Given the description of an element on the screen output the (x, y) to click on. 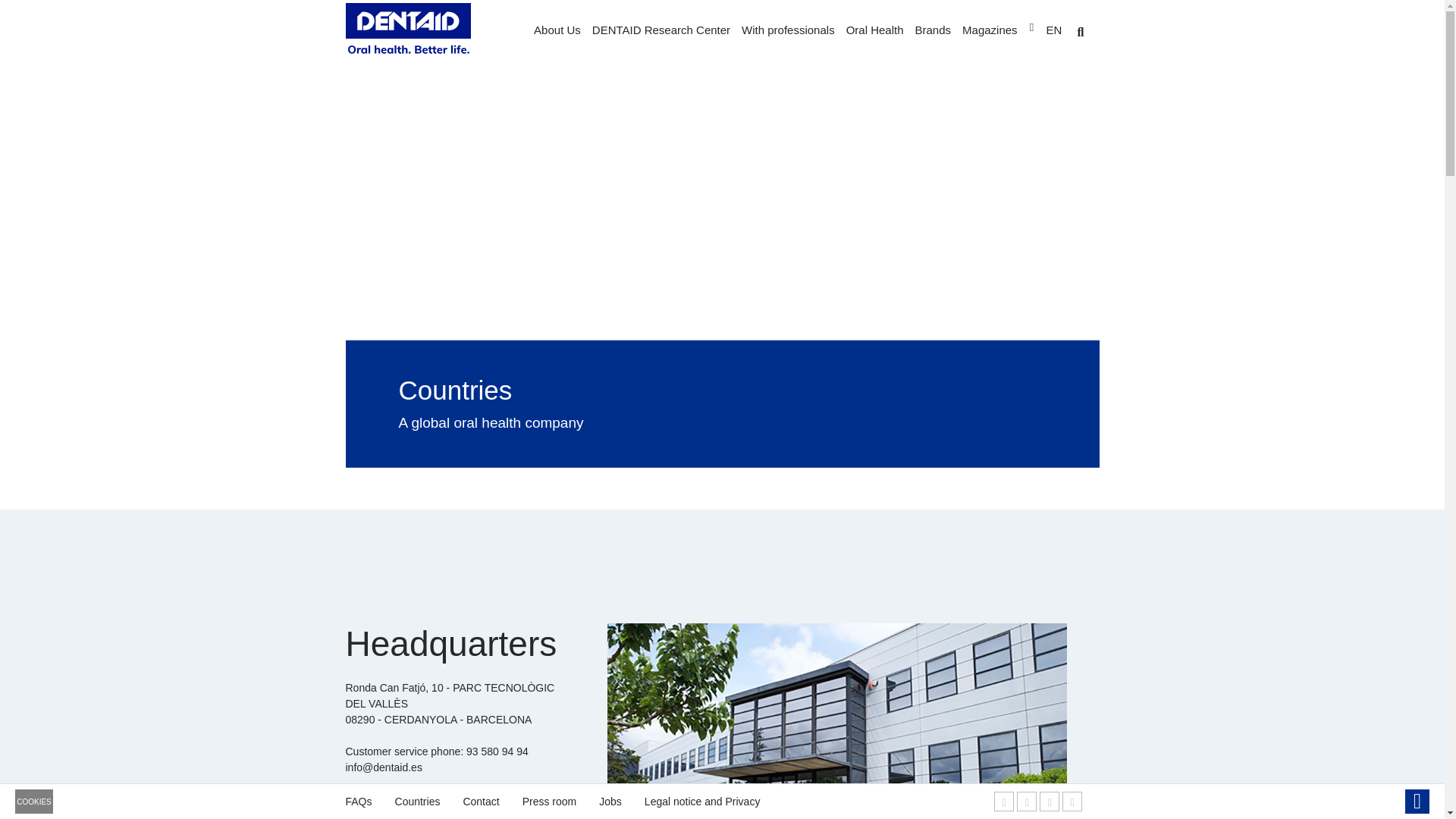
About Us (558, 32)
DENTAID Research Center (663, 32)
With professionals (790, 32)
DENTAID. The Oral Health Experts (408, 32)
Magazines (991, 32)
